Given the description of an element on the screen output the (x, y) to click on. 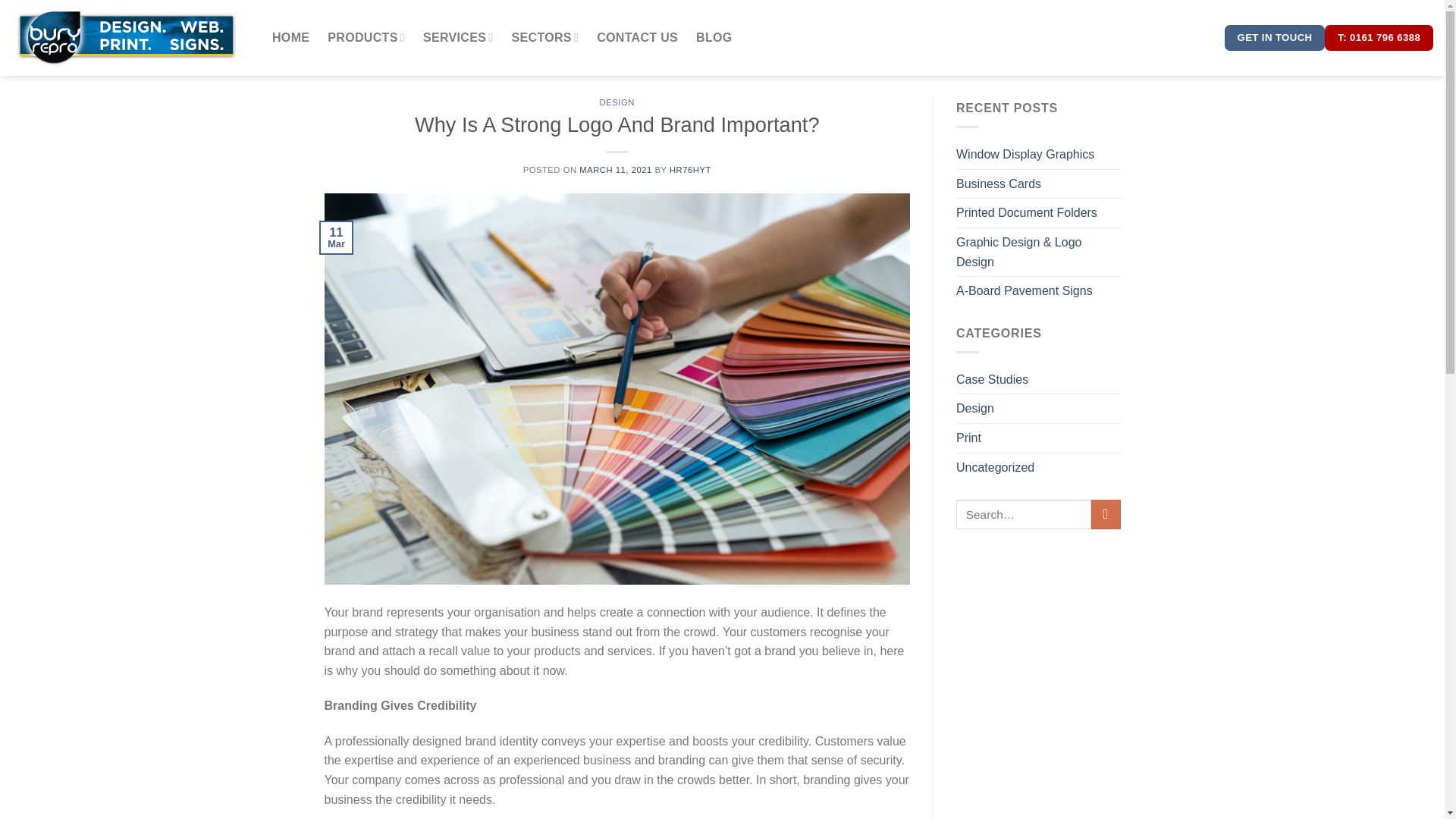
SERVICES (457, 37)
GET IN TOUCH (1274, 37)
MARCH 11, 2021 (615, 169)
BLOG (714, 37)
PRODUCTS (365, 37)
CONTACT US (637, 37)
DESIGN (616, 102)
Bury Repro - Bury Repro (125, 37)
T: 0161 796 6388 (1378, 37)
HR76HYT (690, 169)
